Given the description of an element on the screen output the (x, y) to click on. 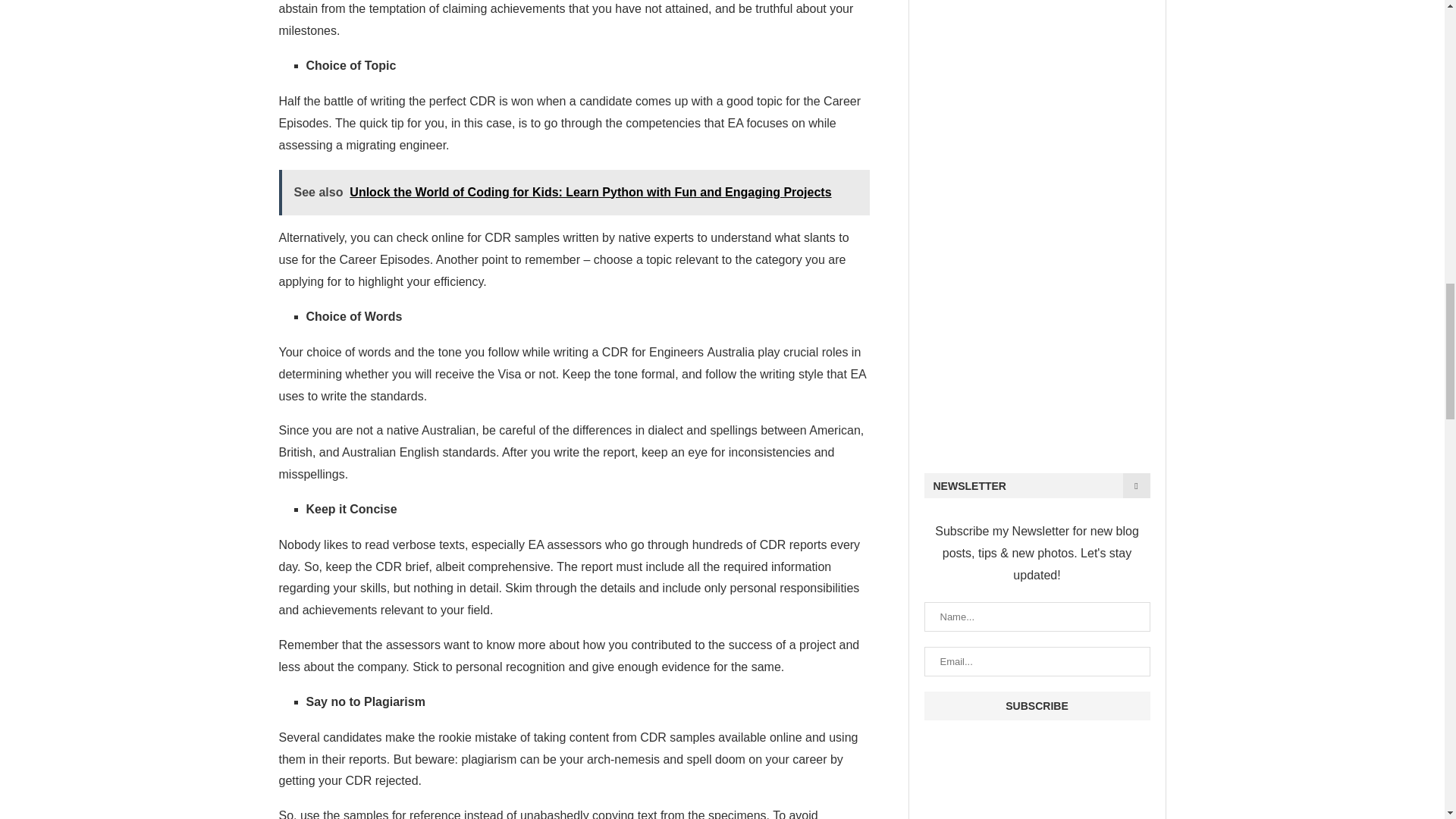
Subscribe (1036, 705)
